Given the description of an element on the screen output the (x, y) to click on. 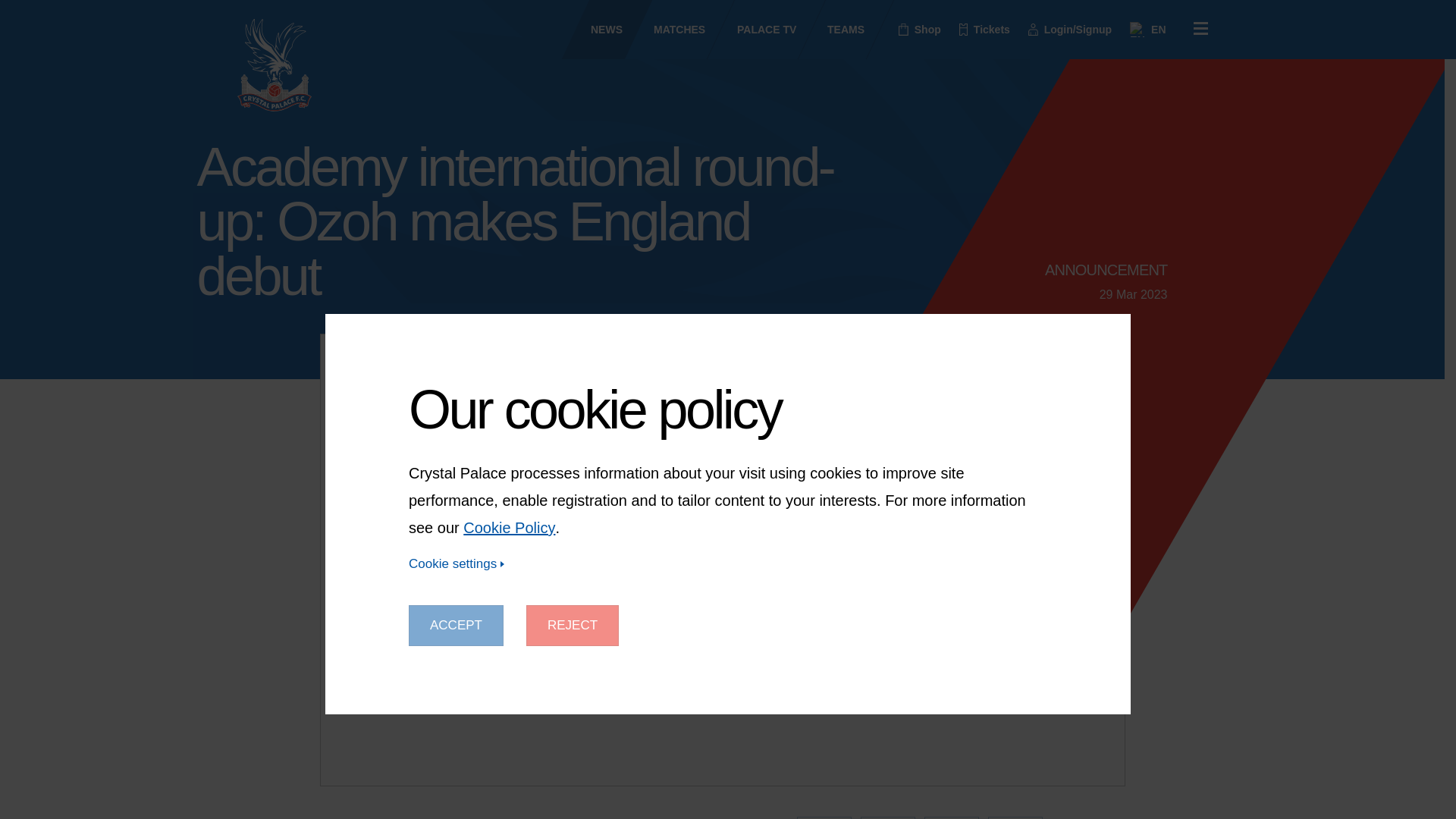
Tickets (984, 29)
TEAMS (831, 29)
MATCHES (665, 29)
Shop (919, 29)
EN (1147, 29)
NEWS (593, 29)
PALACE TV (752, 29)
